Given the description of an element on the screen output the (x, y) to click on. 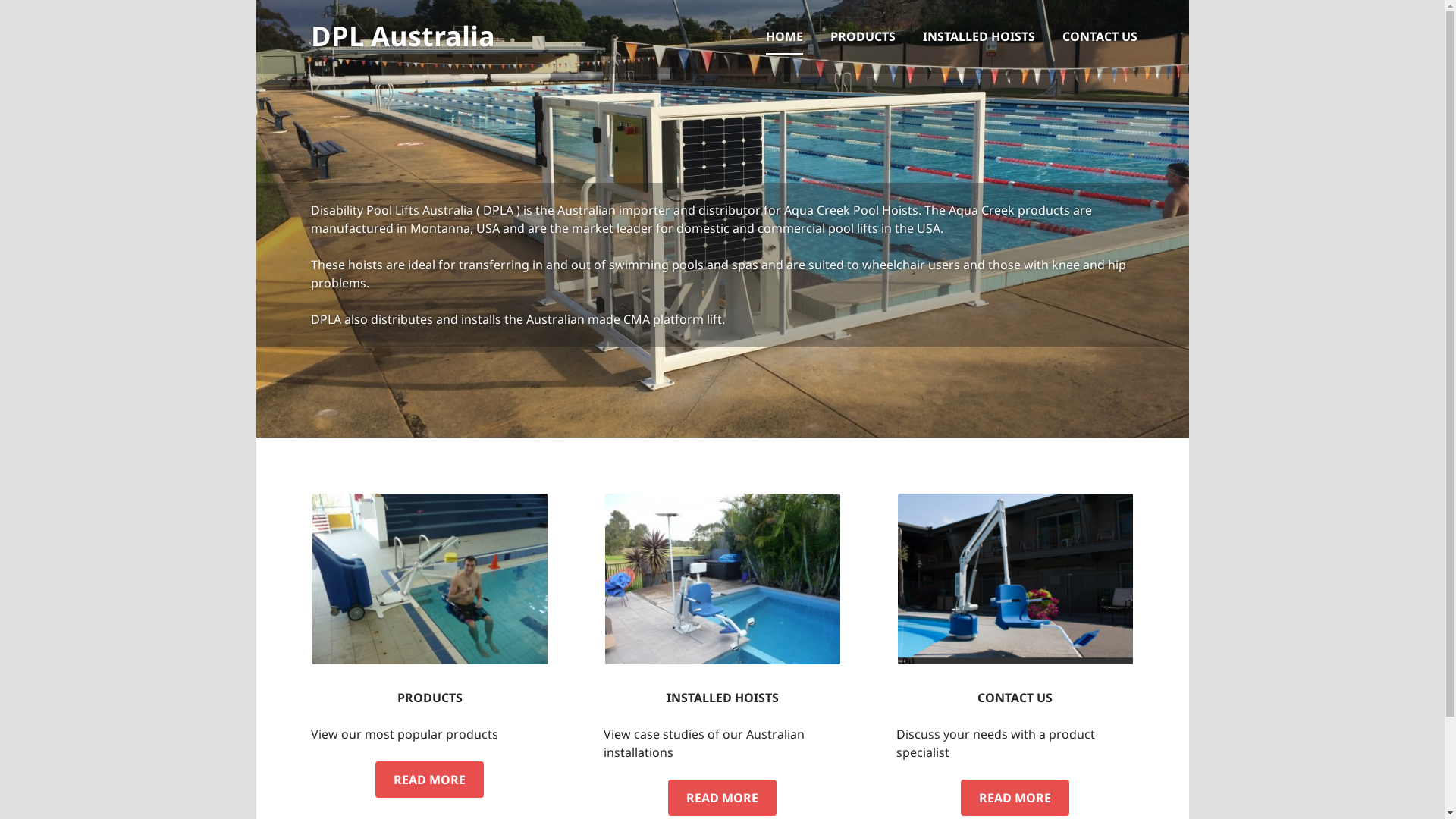
READ MORE
INSTALLED HOISTS Element type: text (722, 797)
READ MORE
CONTACT US Element type: text (1014, 797)
CONTACT US Element type: text (1014, 697)
Skip to content Element type: text (256, 0)
READ MORE
PRODUCTS Element type: text (429, 779)
HOME Element type: text (784, 36)
DPL Australia Element type: text (402, 35)
CONTACT US Element type: text (1098, 36)
INSTALLED HOISTS Element type: text (978, 36)
INSTALLED HOISTS Element type: text (721, 697)
PRODUCTS Element type: text (861, 36)
PRODUCTS Element type: text (429, 697)
